Given the description of an element on the screen output the (x, y) to click on. 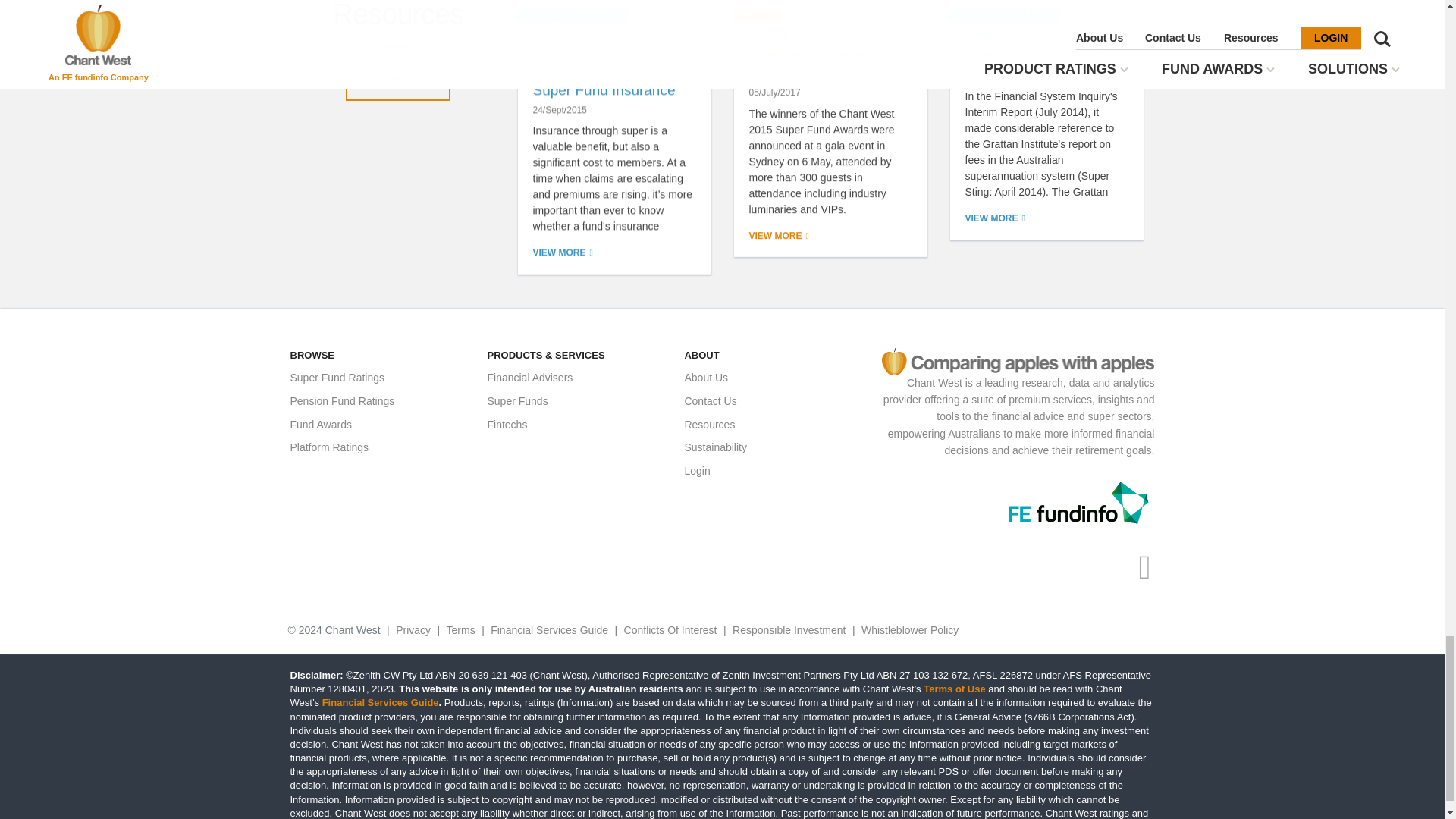
VIEW MORE (779, 235)
VIEW MORE (562, 252)
VIEW ALL (397, 79)
